Given the description of an element on the screen output the (x, y) to click on. 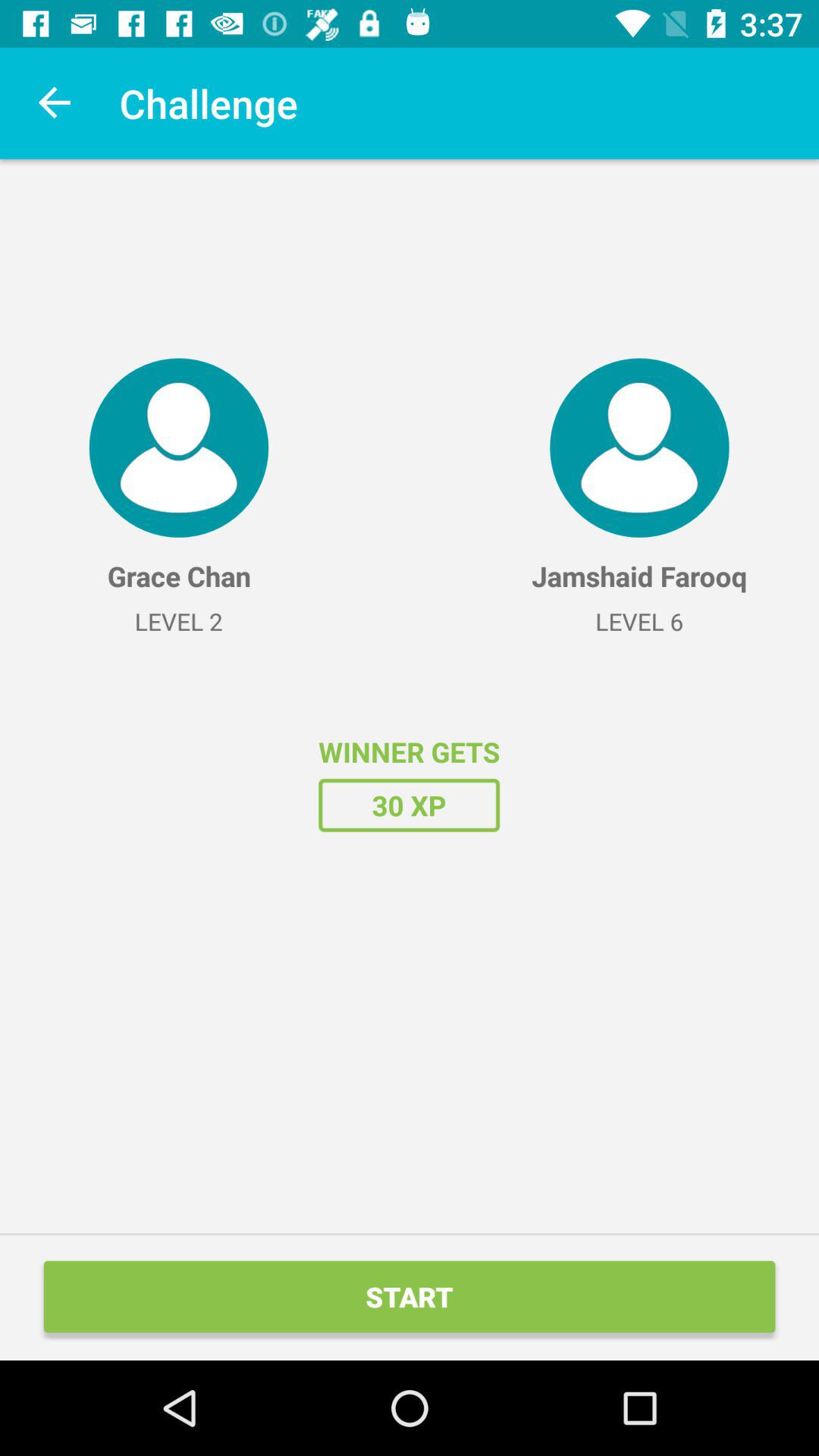
create profile (178, 447)
